Given the description of an element on the screen output the (x, y) to click on. 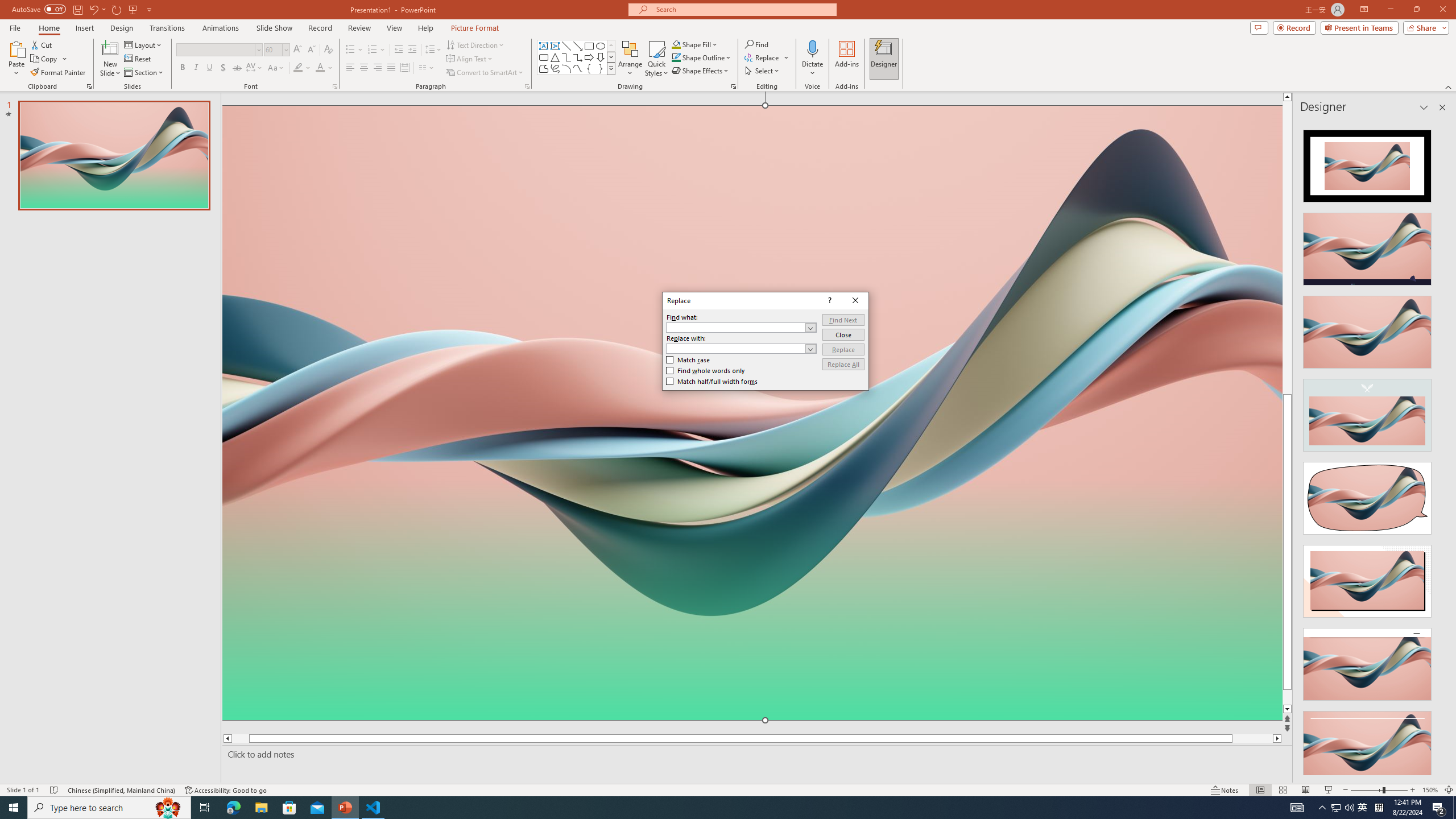
Zoom 150% (1430, 790)
Recommended Design: Design Idea (1366, 162)
